Given the description of an element on the screen output the (x, y) to click on. 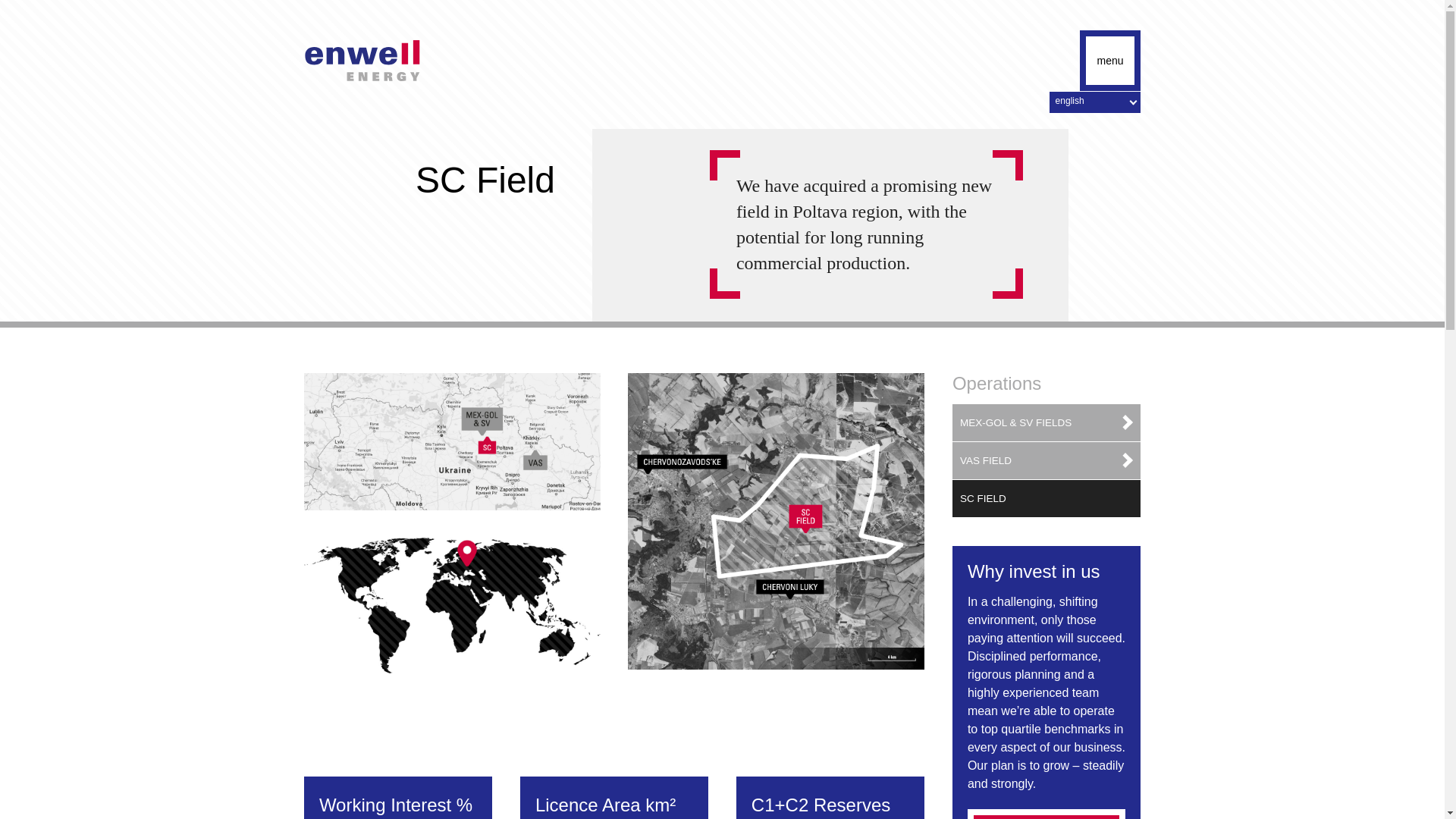
english (1094, 102)
Enwell Energy (362, 60)
menu (1110, 60)
